Given the description of an element on the screen output the (x, y) to click on. 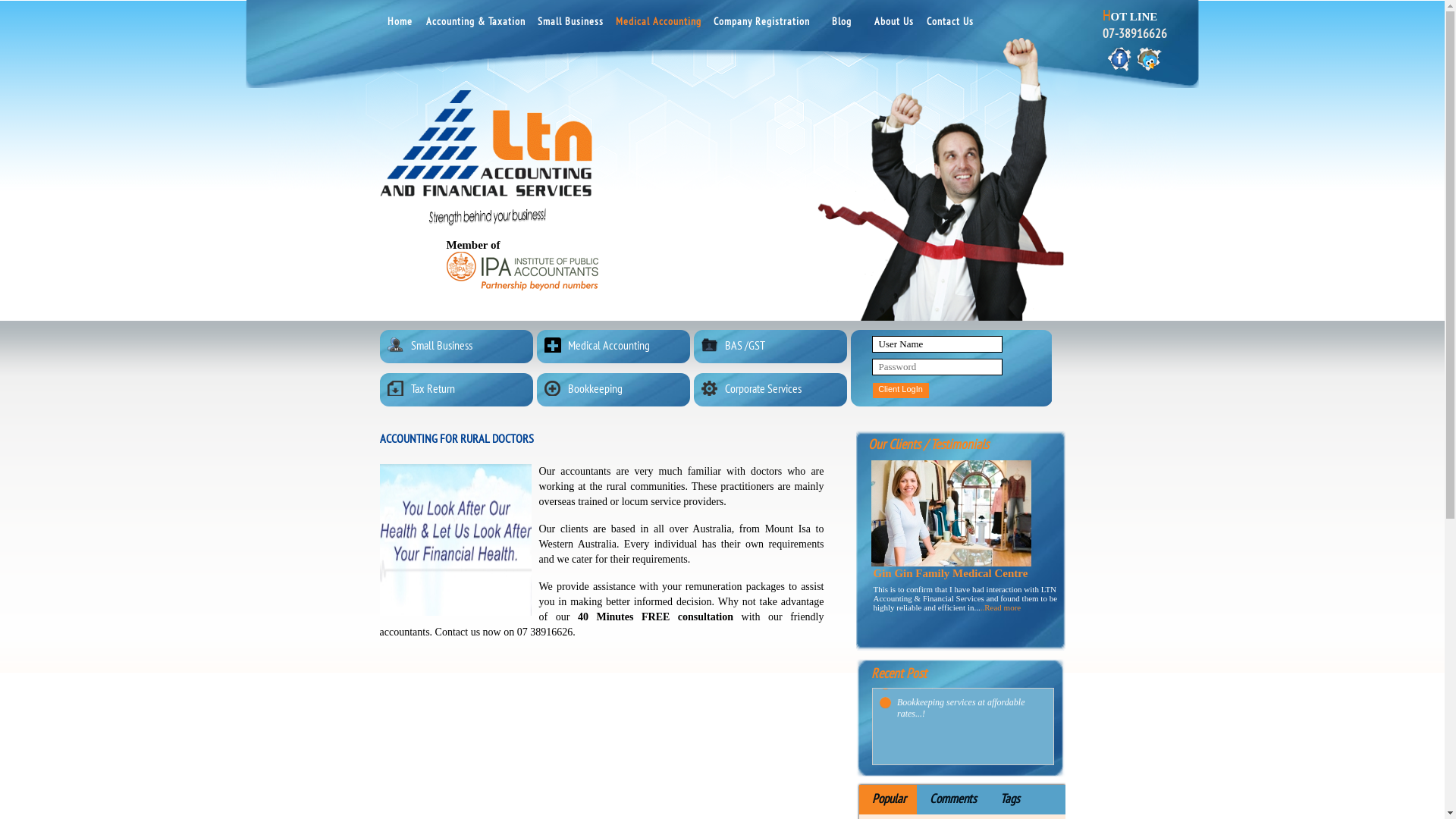
About Us Element type: text (893, 24)
Company Registration Element type: text (760, 24)
Contact Us Element type: text (949, 24)
medical accountant service Element type: hover (458, 539)
BAS /GST Element type: text (773, 346)
Corporate Services Element type: text (773, 389)
Blog Element type: text (841, 24)
Small Business Element type: text (569, 24)
Tax Return Element type: text (459, 389)
Gin Gin Family Medical Centre Element type: hover (950, 513)
..Read more Element type: text (1000, 606)
Tags Element type: text (1008, 799)
Bookkeeping Element type: text (616, 389)
Make profit from your Small Business. Element type: text (971, 709)
Bookkeeping services at affordable rates...! Element type: text (971, 733)
Client LogIn Element type: text (900, 390)
Accounting & Taxation Element type: text (475, 24)
Home Element type: text (398, 24)
Medical Accounting Element type: text (616, 346)
Small Business Element type: text (459, 346)
Popular Element type: text (887, 799)
Benefits of having a self managed or DIY super fund Element type: text (971, 685)
Medical Accounting Element type: text (658, 24)
Comments Element type: text (951, 799)
